Given the description of an element on the screen output the (x, y) to click on. 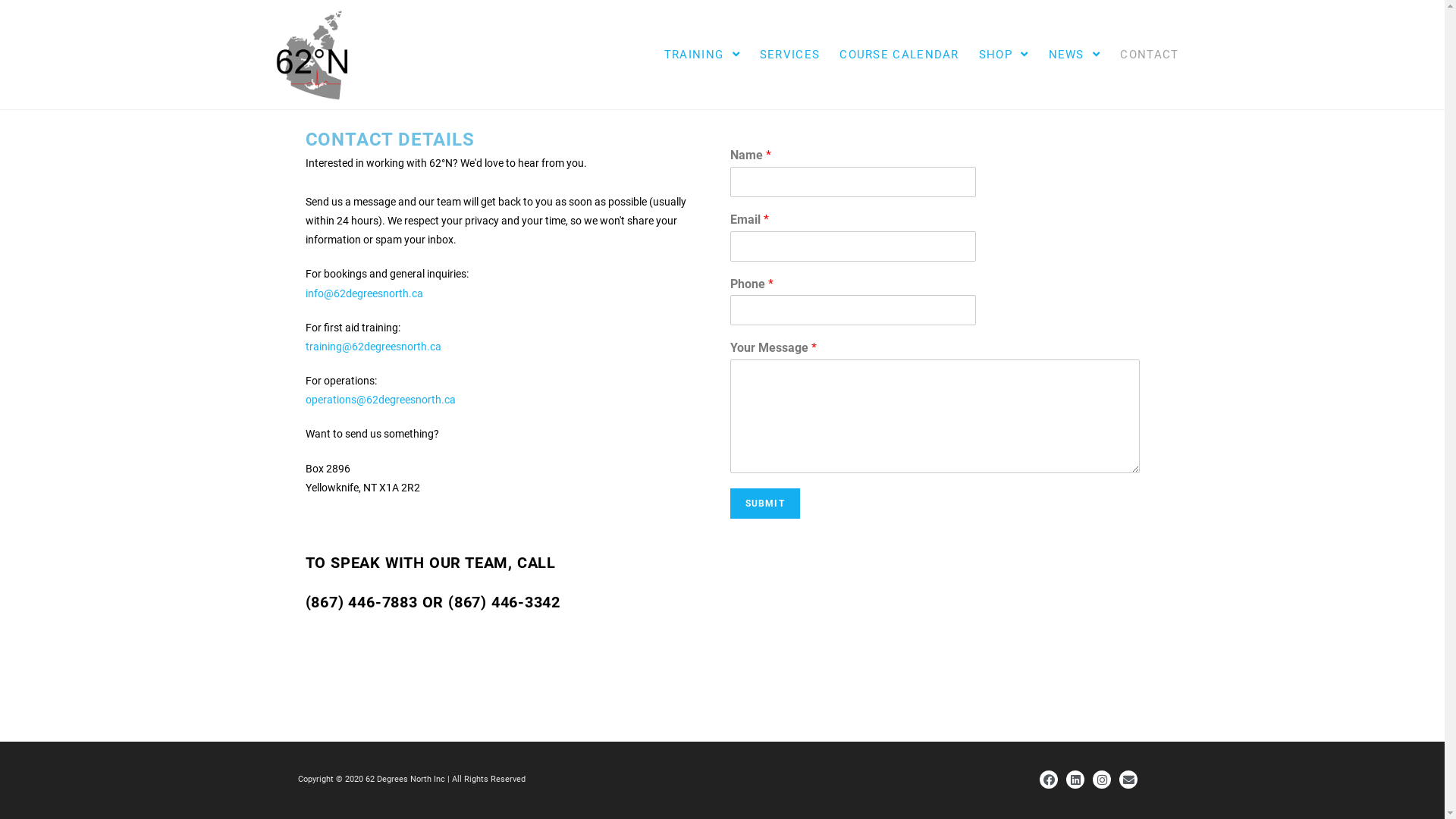
NEWS Element type: text (1074, 54)
operations@62degreesnorth.ca Element type: text (379, 399)
COURSE CALENDAR Element type: text (899, 54)
training@62degreesnorth.ca Element type: text (372, 346)
TRAINING Element type: text (701, 54)
SHOP Element type: text (1003, 54)
info@62degreesnorth.ca Element type: text (363, 293)
SUBMIT Element type: text (764, 503)
CONTACT Element type: text (1149, 54)
SERVICES Element type: text (789, 54)
